Given the description of an element on the screen output the (x, y) to click on. 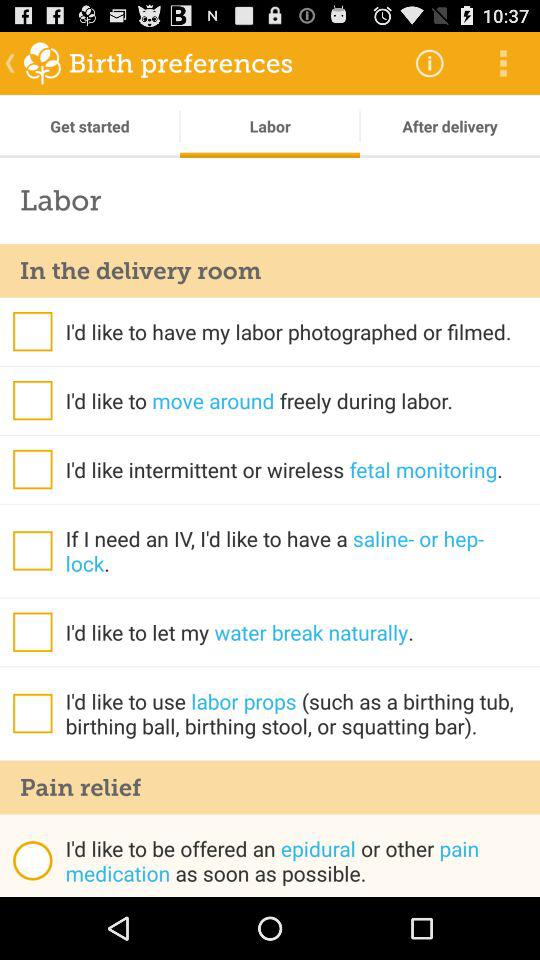
launch the item below i d like app (270, 787)
